Given the description of an element on the screen output the (x, y) to click on. 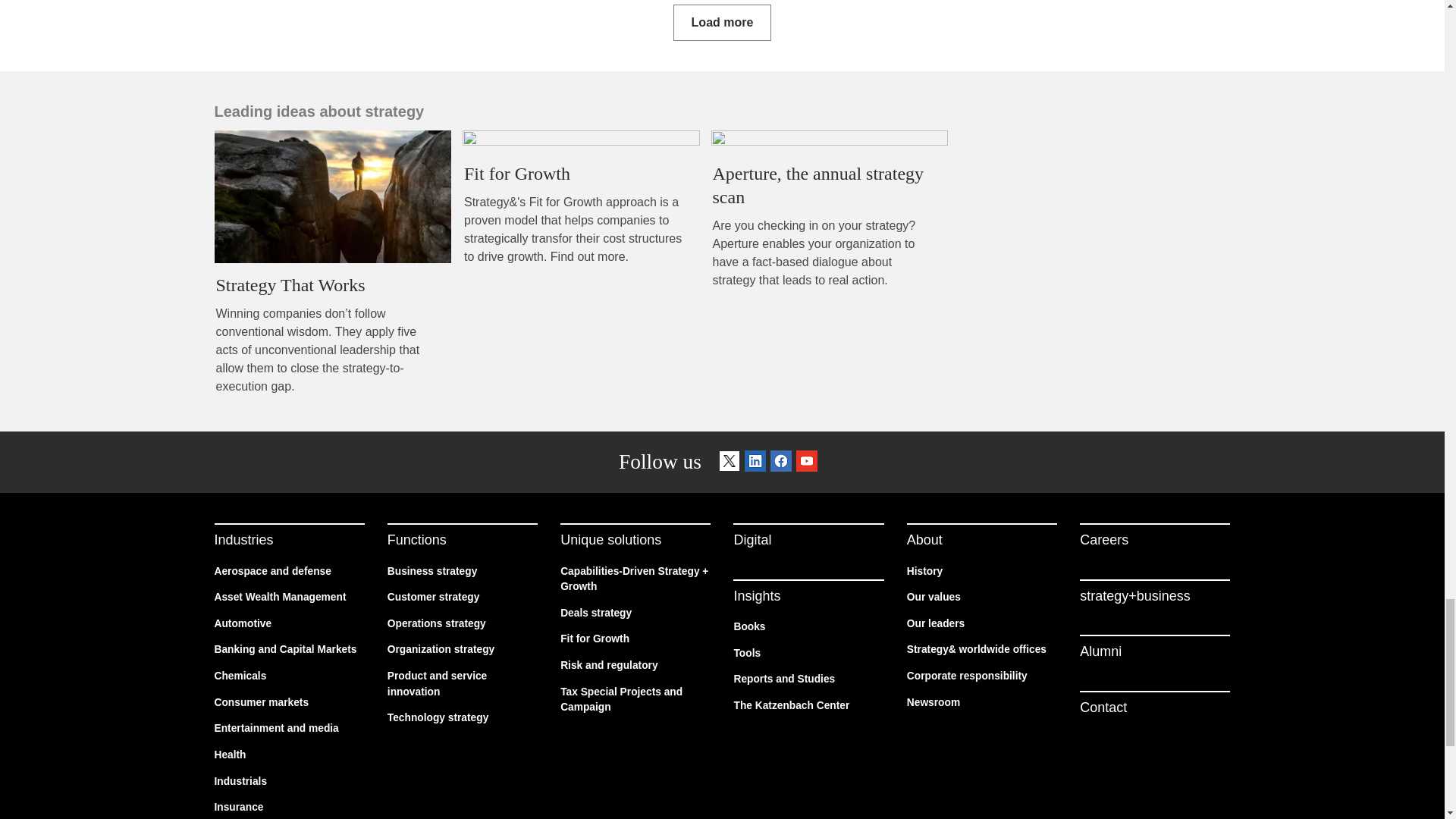
X Follow (729, 462)
Facebook Follow (781, 462)
Linkedin Follow (754, 462)
